Given the description of an element on the screen output the (x, y) to click on. 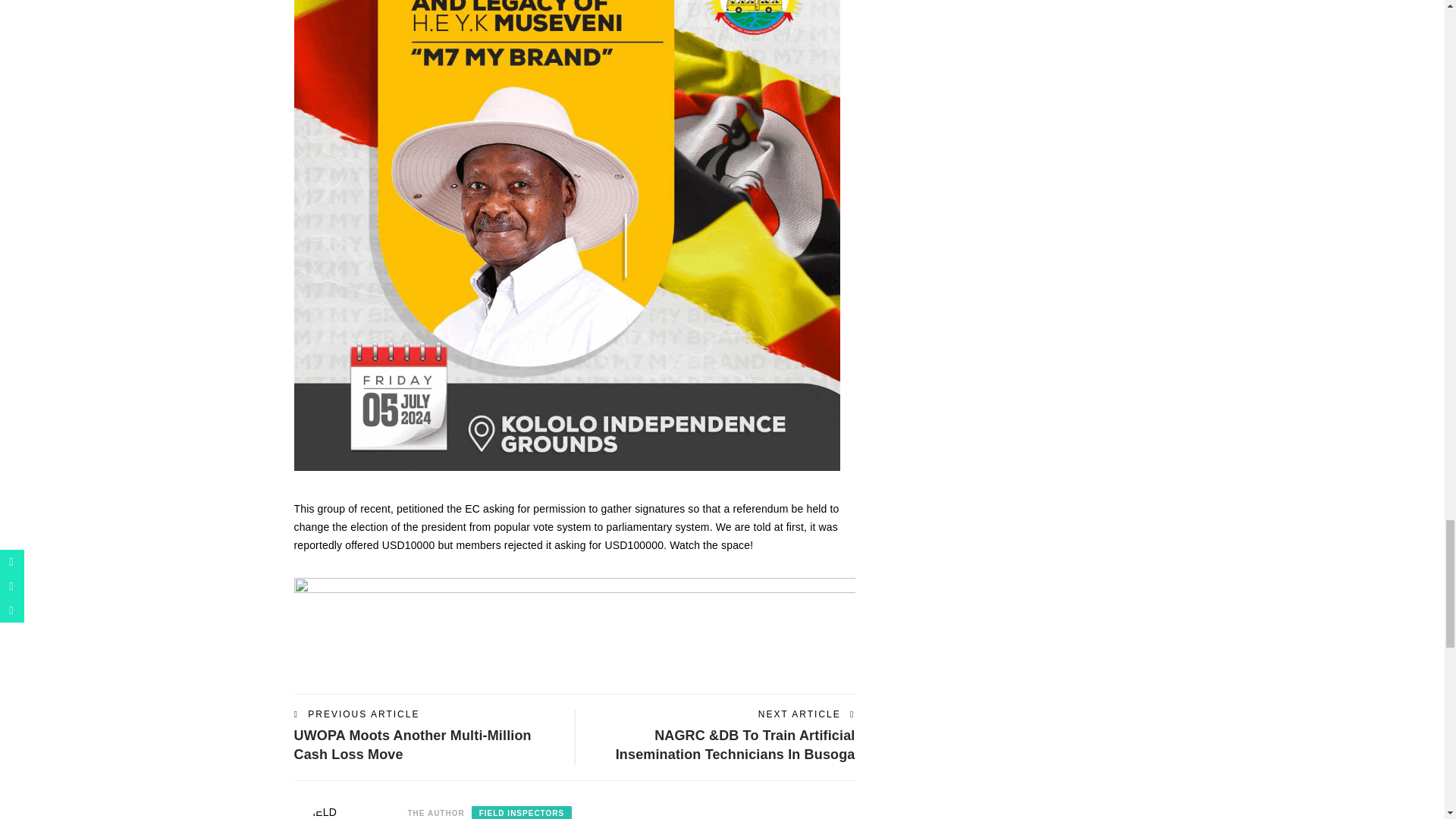
UWOPA Moots Another Multi-Million Cash Loss Move (412, 745)
